Given the description of an element on the screen output the (x, y) to click on. 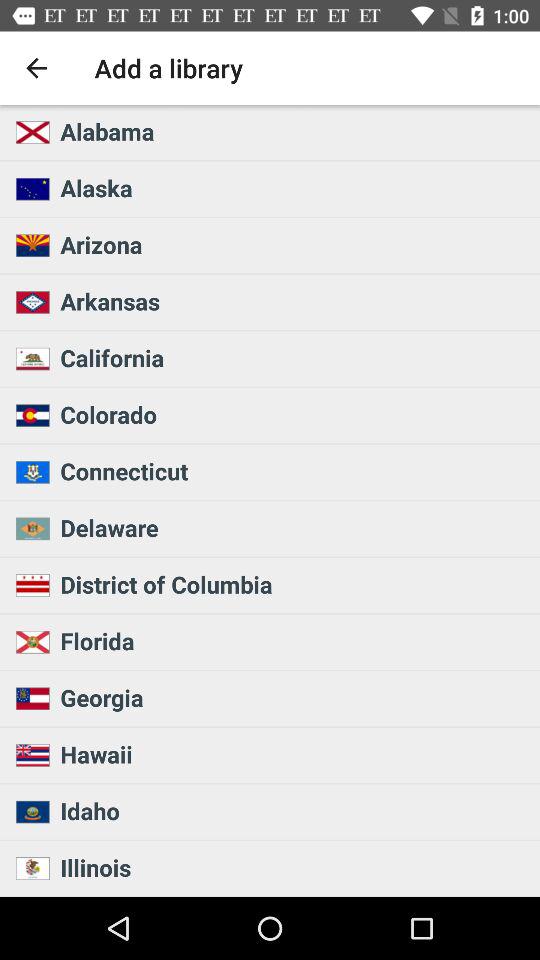
choose icon below arizona item (294, 301)
